Given the description of an element on the screen output the (x, y) to click on. 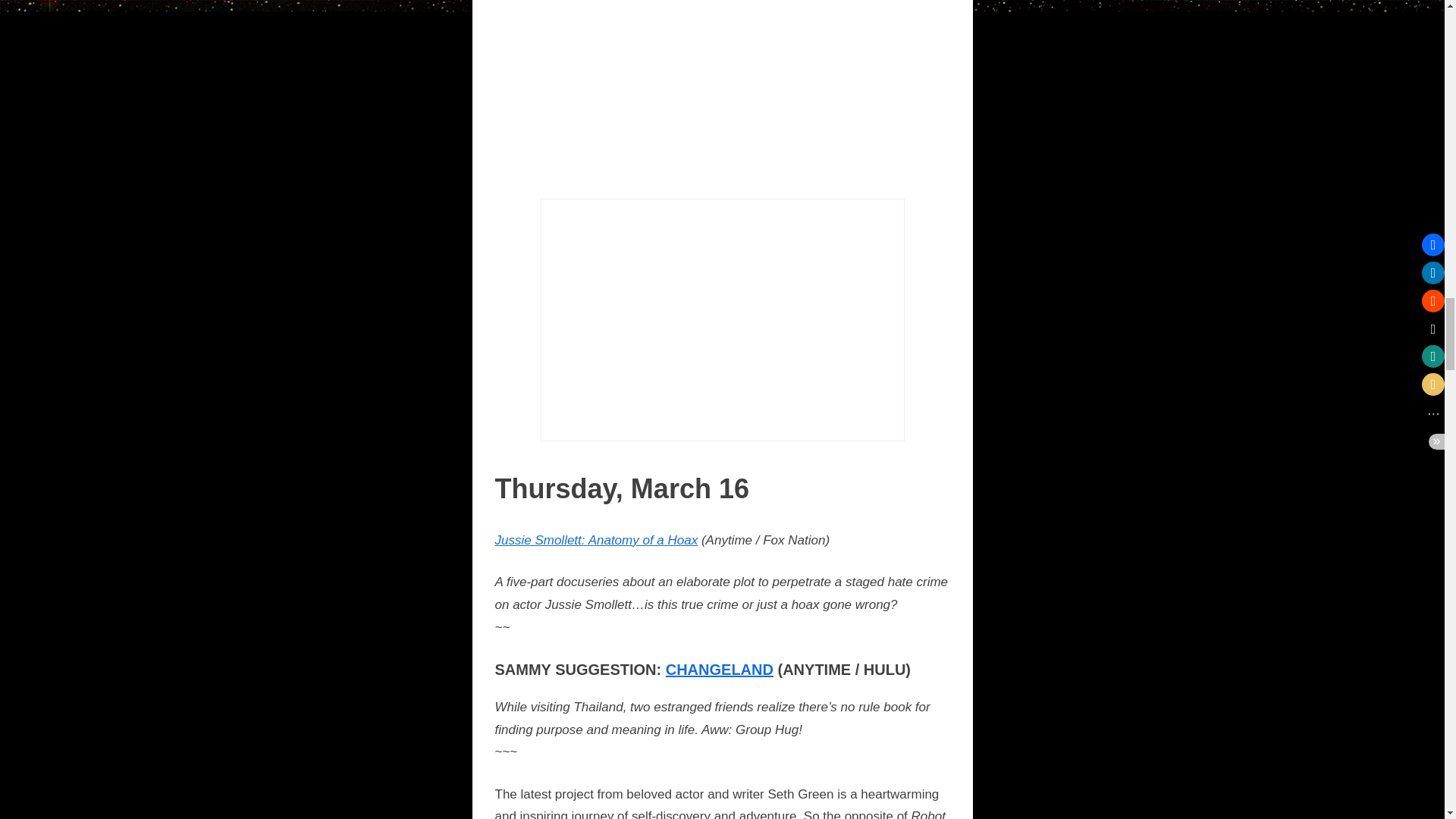
CHANGELAND (719, 669)
Jussie Smollett: Anatomy of a Hoax (596, 540)
